Given the description of an element on the screen output the (x, y) to click on. 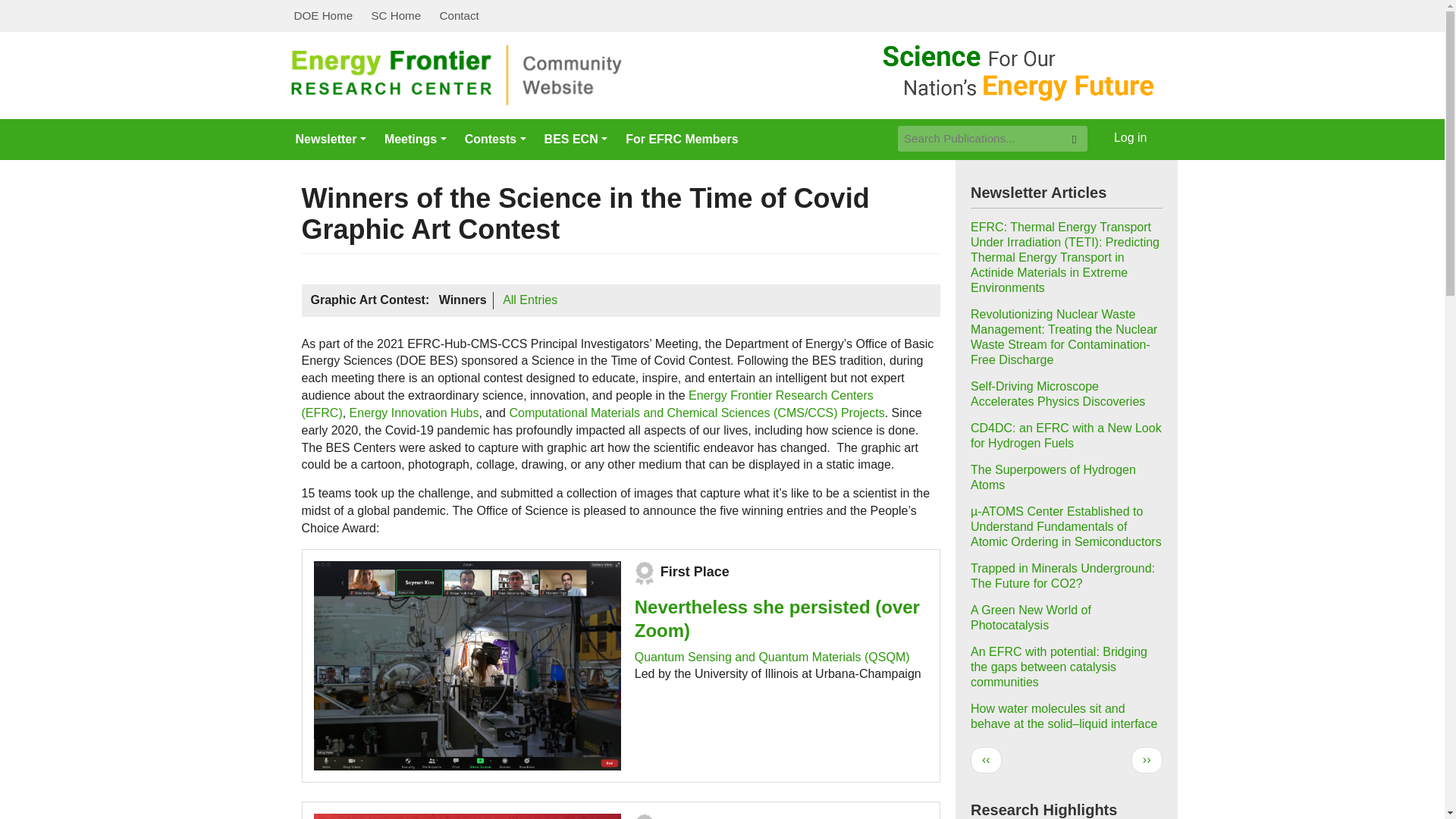
Energy Innovation Hubs (414, 412)
Contact (458, 15)
SC Home (395, 15)
All Entries (529, 300)
DOE Home (323, 15)
Winners (462, 300)
Log in (1130, 137)
For EFRC Members (680, 138)
Go to next page (1146, 759)
Newsletter (330, 138)
Contests (495, 138)
BES ECN (576, 138)
Meetings (415, 138)
Go to previous page (986, 759)
